Given the description of an element on the screen output the (x, y) to click on. 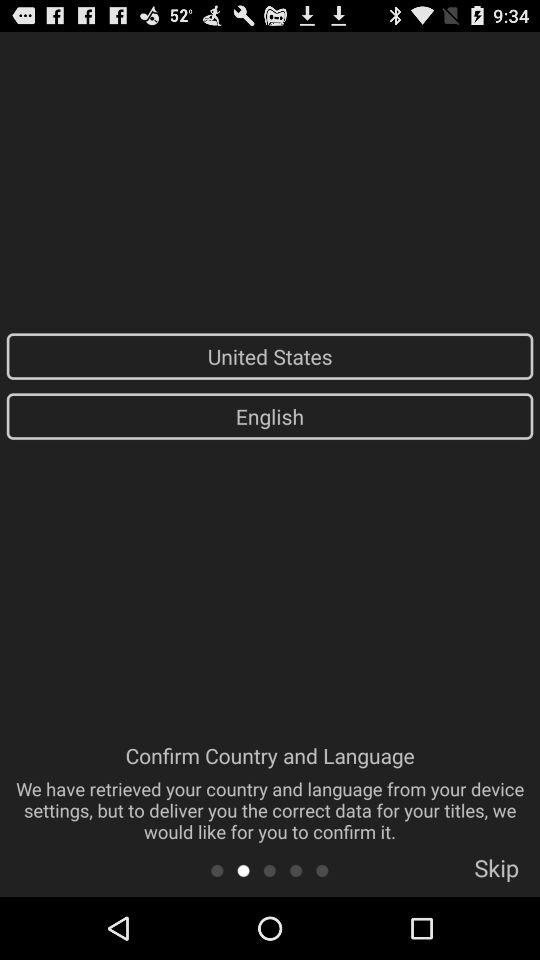
press the united states (269, 356)
